Given the description of an element on the screen output the (x, y) to click on. 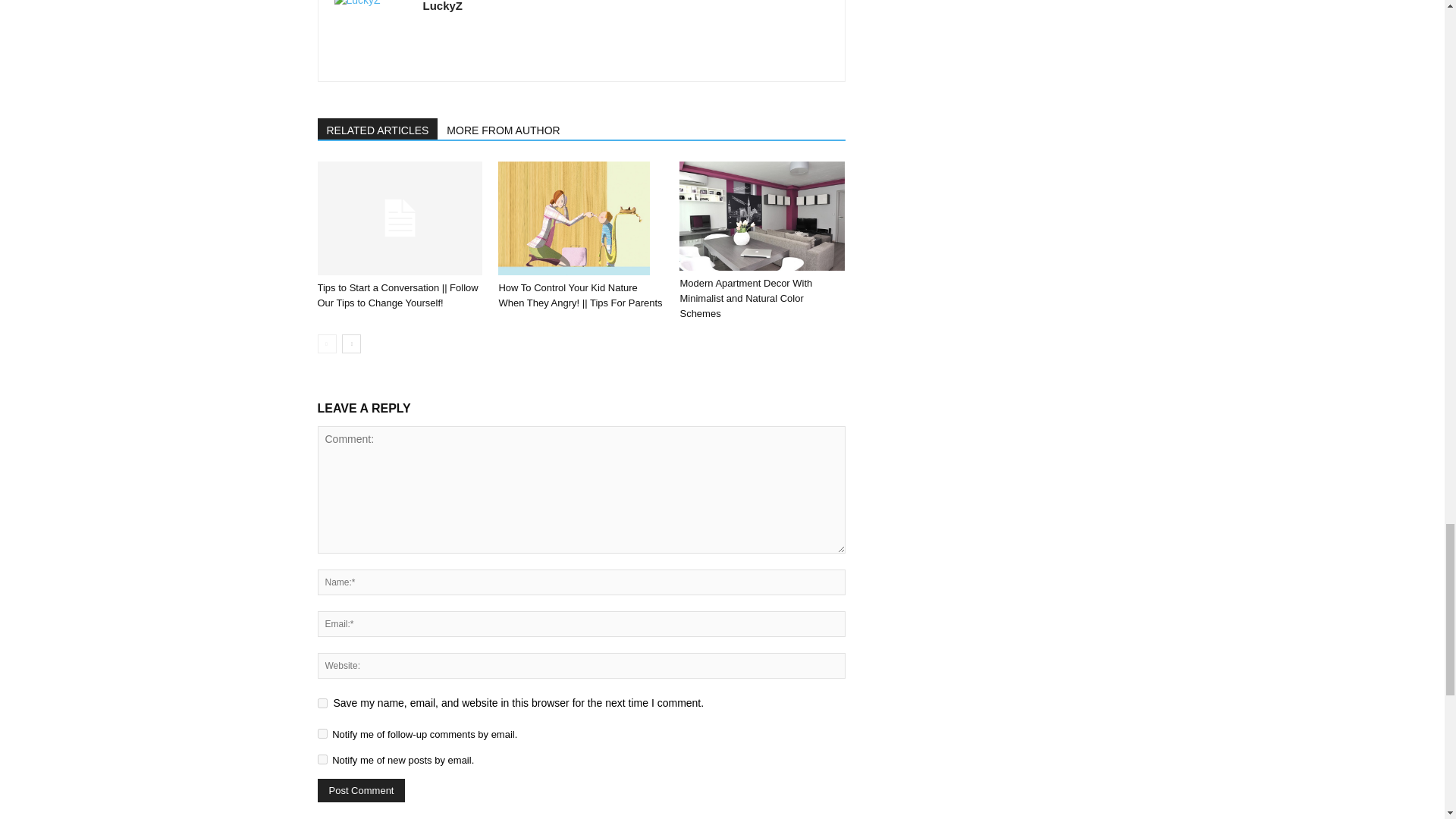
subscribe (321, 733)
subscribe (321, 759)
Post Comment (360, 790)
yes (321, 703)
